Given the description of an element on the screen output the (x, y) to click on. 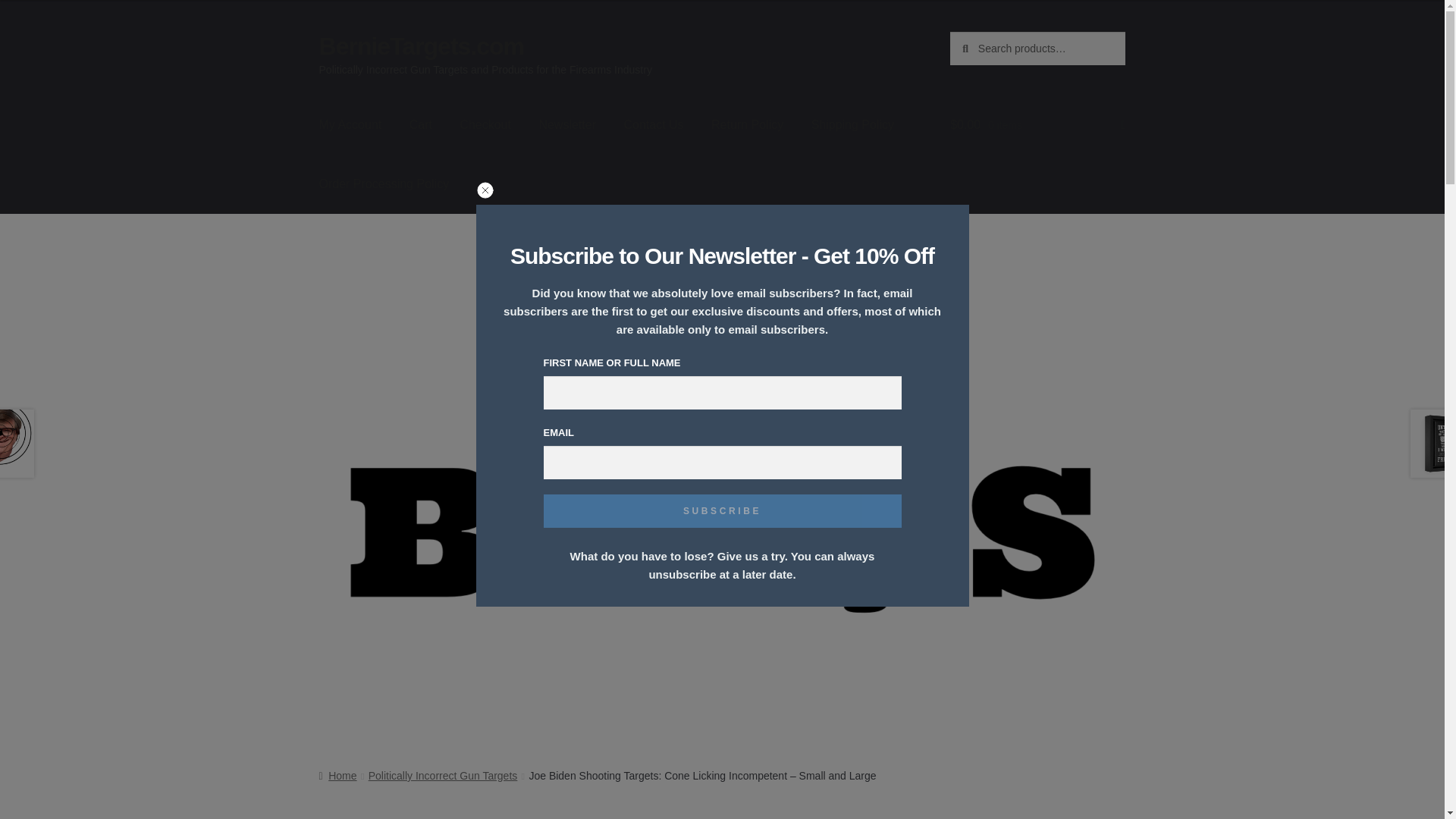
Order Processing Policy (384, 183)
View your shopping cart (1037, 124)
My Account (350, 124)
BernieTargets.com (421, 45)
Newsletter (566, 124)
Home (337, 775)
Close (485, 194)
Politically Incorrect Gun Targets (443, 775)
Checkout (484, 124)
Return Policy (746, 124)
Subscribe (722, 510)
Shipping Policy (852, 124)
